Given the description of an element on the screen output the (x, y) to click on. 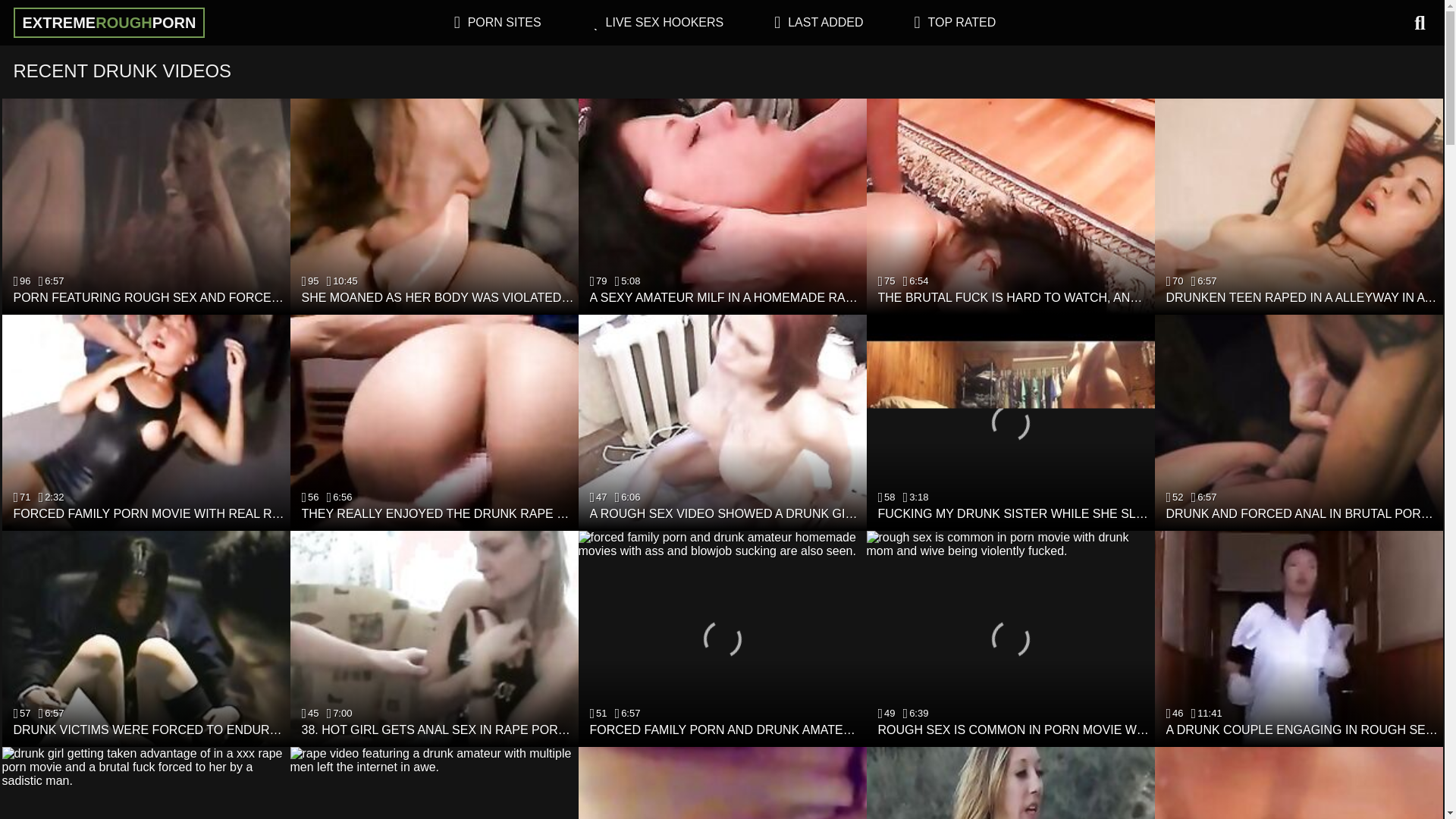
EXTREMEROUGHPORN (109, 22)
LIVE SEX HOOKERS (664, 21)
PORN SITES (504, 21)
TOP RATED (961, 21)
LAST ADDED (825, 21)
